Given the description of an element on the screen output the (x, y) to click on. 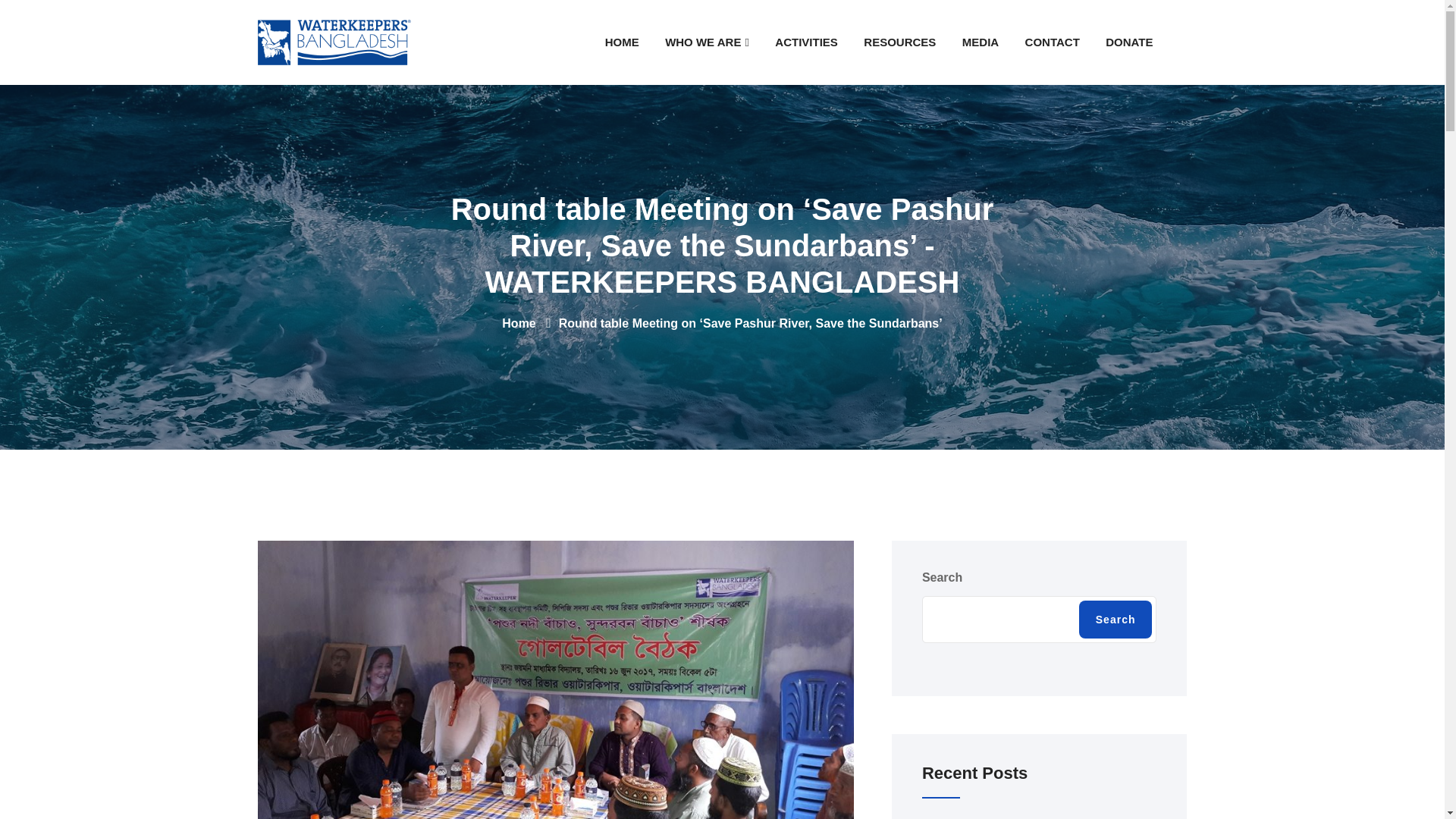
DONATE (1128, 41)
Contact (1051, 41)
Search (1115, 619)
WHO WE ARE (706, 41)
Home (518, 323)
CONTACT (1051, 41)
Resources (899, 41)
Who We Are (706, 41)
RESOURCES (899, 41)
Activities (805, 41)
Donate (1128, 41)
ACTIVITIES (805, 41)
